Given the description of an element on the screen output the (x, y) to click on. 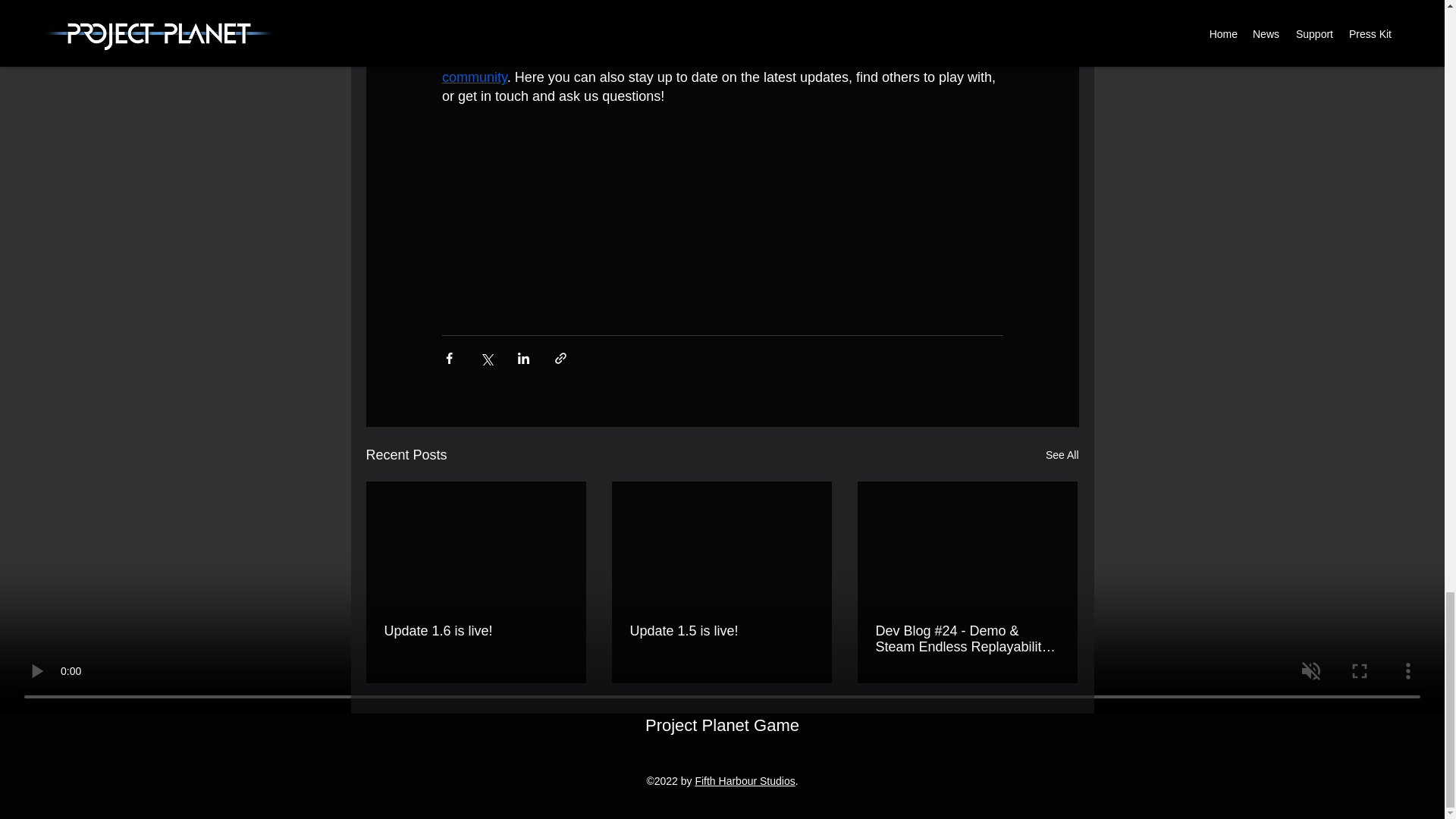
Update 1.5 is live! (720, 631)
join our Discord community (711, 67)
See All (1061, 455)
Fifth Harbour Studios (744, 780)
Update 1.6 is live! (475, 631)
